Given the description of an element on the screen output the (x, y) to click on. 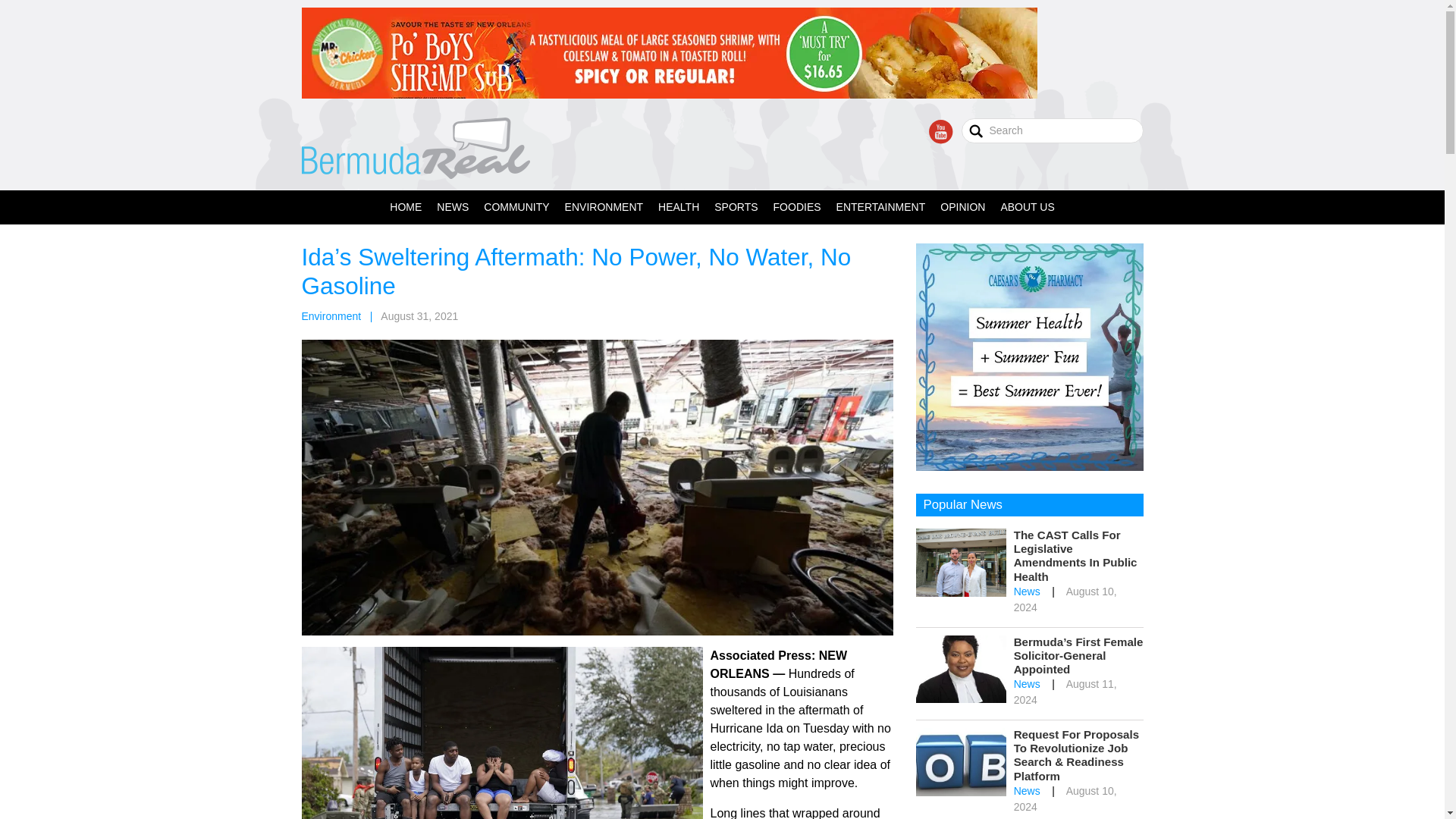
HEALTH (678, 207)
FOODIES (796, 207)
ABOUT US (1026, 207)
OPINION (962, 207)
ENTERTAINMENT (880, 207)
HOME (405, 207)
Environment (331, 316)
Search for: (1051, 130)
ENVIRONMENT (603, 207)
NEWS (452, 207)
